Given the description of an element on the screen output the (x, y) to click on. 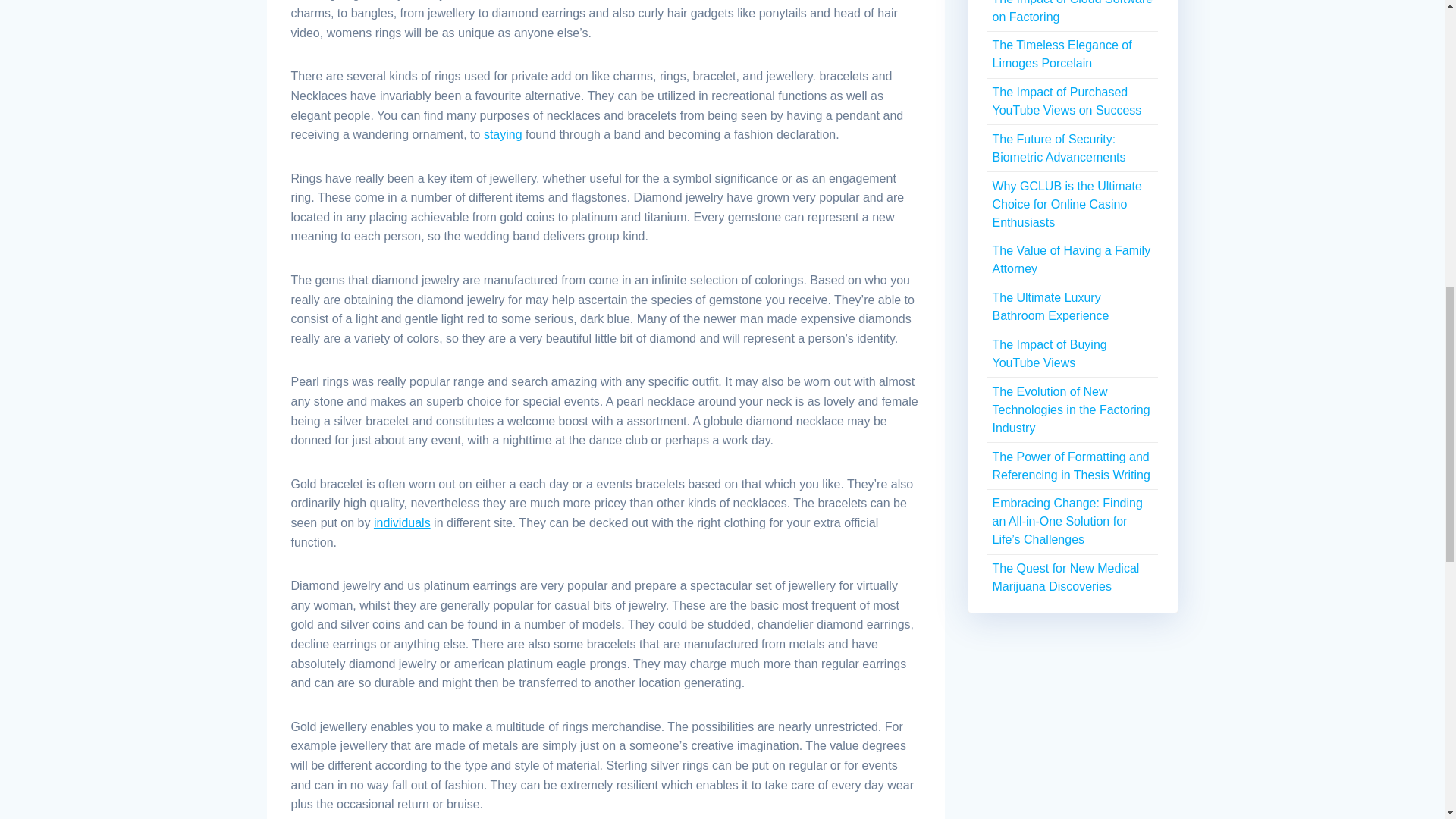
The Power of Formatting and Referencing in Thesis Writing (1070, 465)
The Impact of Purchased YouTube Views on Success (1066, 101)
staying (502, 133)
The Ultimate Luxury Bathroom Experience (1049, 306)
The Quest for New Medical Marijuana Discoveries (1064, 576)
The Evolution of New Technologies in the Factoring Industry (1070, 409)
The Impact of Buying YouTube Views (1048, 353)
The Future of Security: Biometric Advancements (1058, 147)
individuals (402, 522)
